Given the description of an element on the screen output the (x, y) to click on. 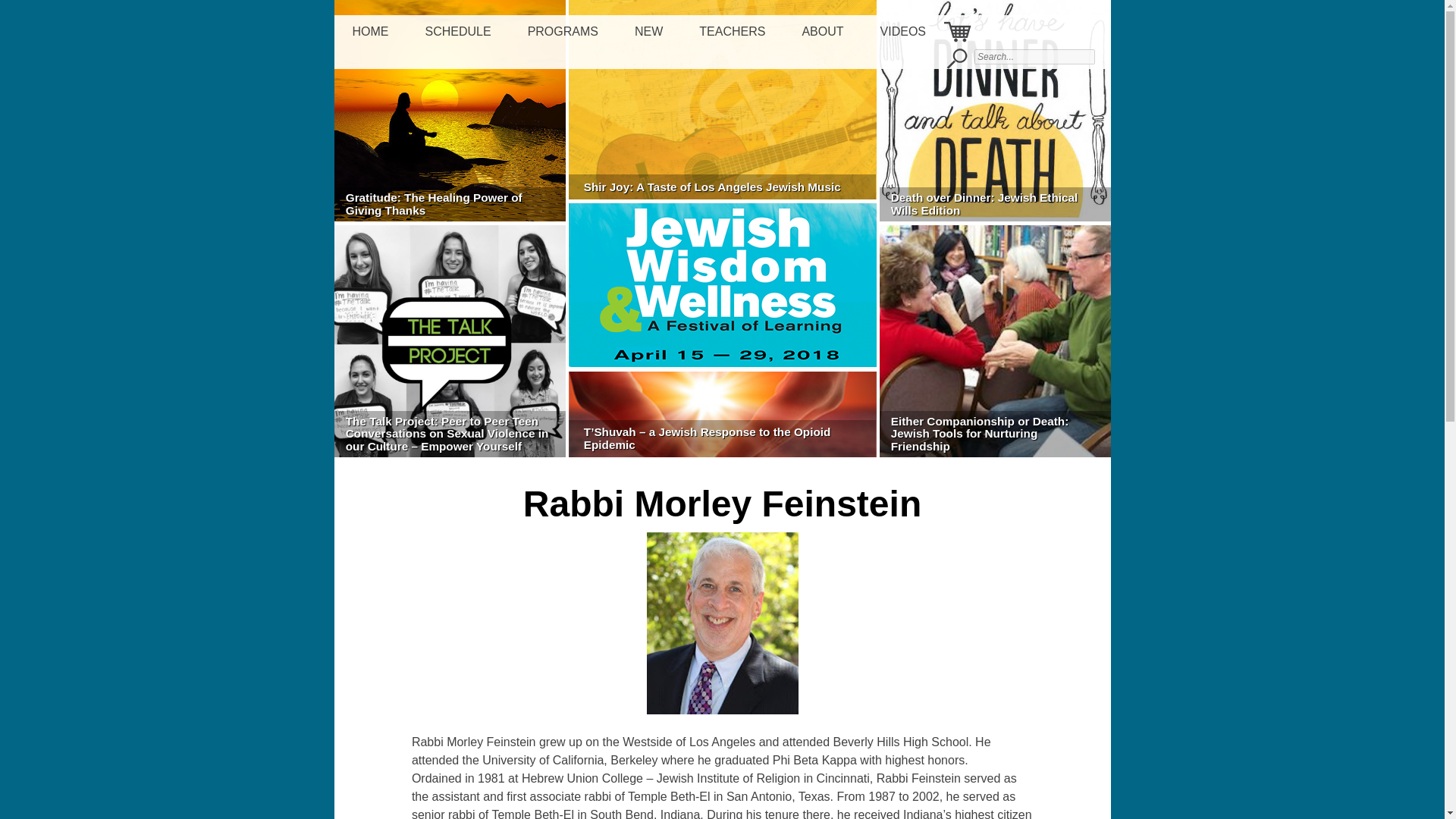
PROGRAMS (562, 31)
HOME (369, 31)
TEACHERS (732, 31)
ABOUT (821, 31)
VIDEOS (902, 31)
SCHEDULE (456, 31)
NEW (648, 31)
